Given the description of an element on the screen output the (x, y) to click on. 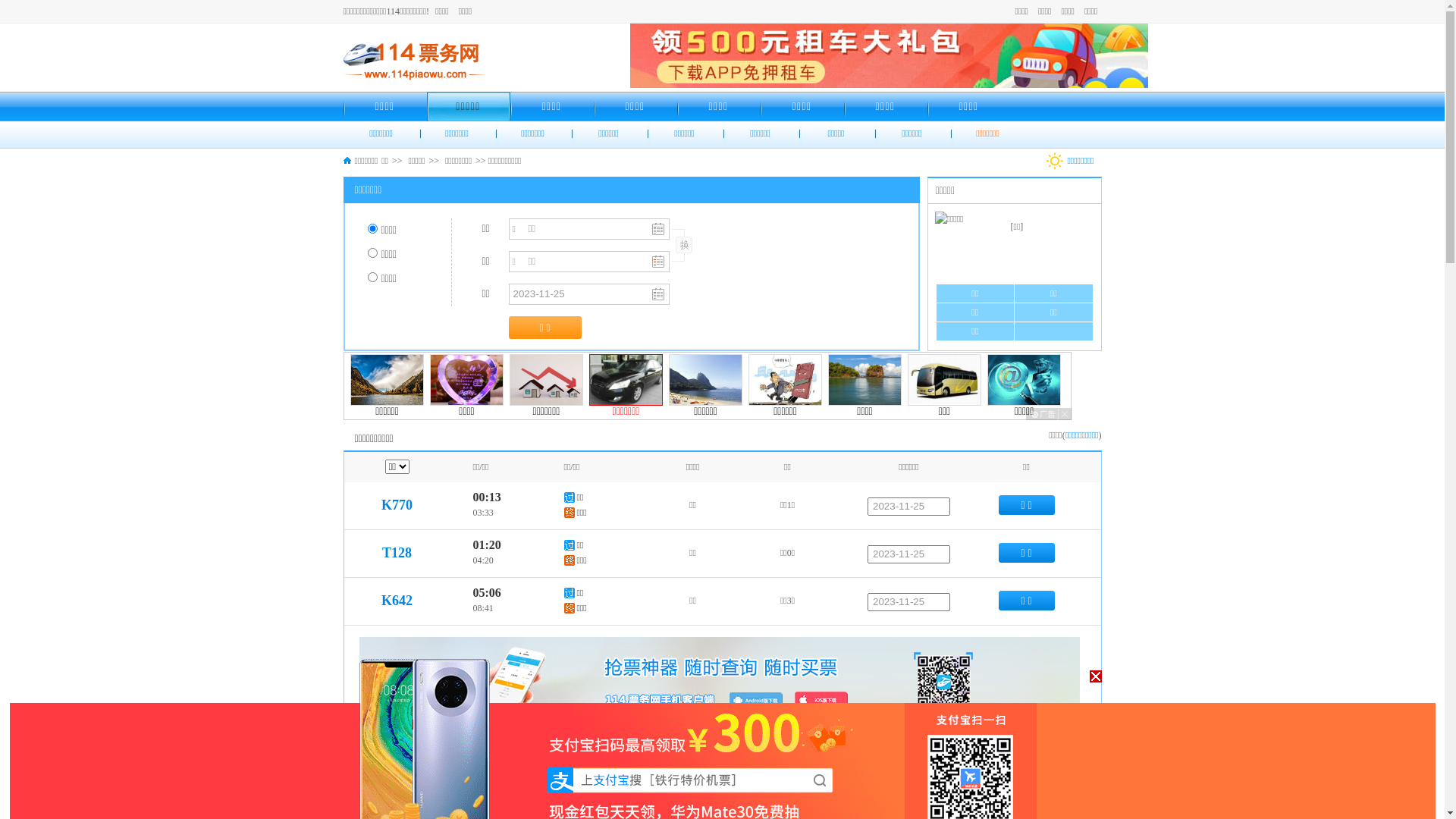
K122 Element type: text (396, 758)
2023-11-25 Element type: text (908, 602)
2023-11-25 Element type: text (908, 506)
2023-11-25 Element type: text (908, 554)
K770 Element type: text (396, 504)
  Element type: text (681, 245)
2023-11-25 Element type: text (908, 760)
K392 Element type: text (396, 806)
K642 Element type: text (396, 600)
2023-11-25 Element type: text (908, 808)
T128 Element type: text (396, 552)
